Given the description of an element on the screen output the (x, y) to click on. 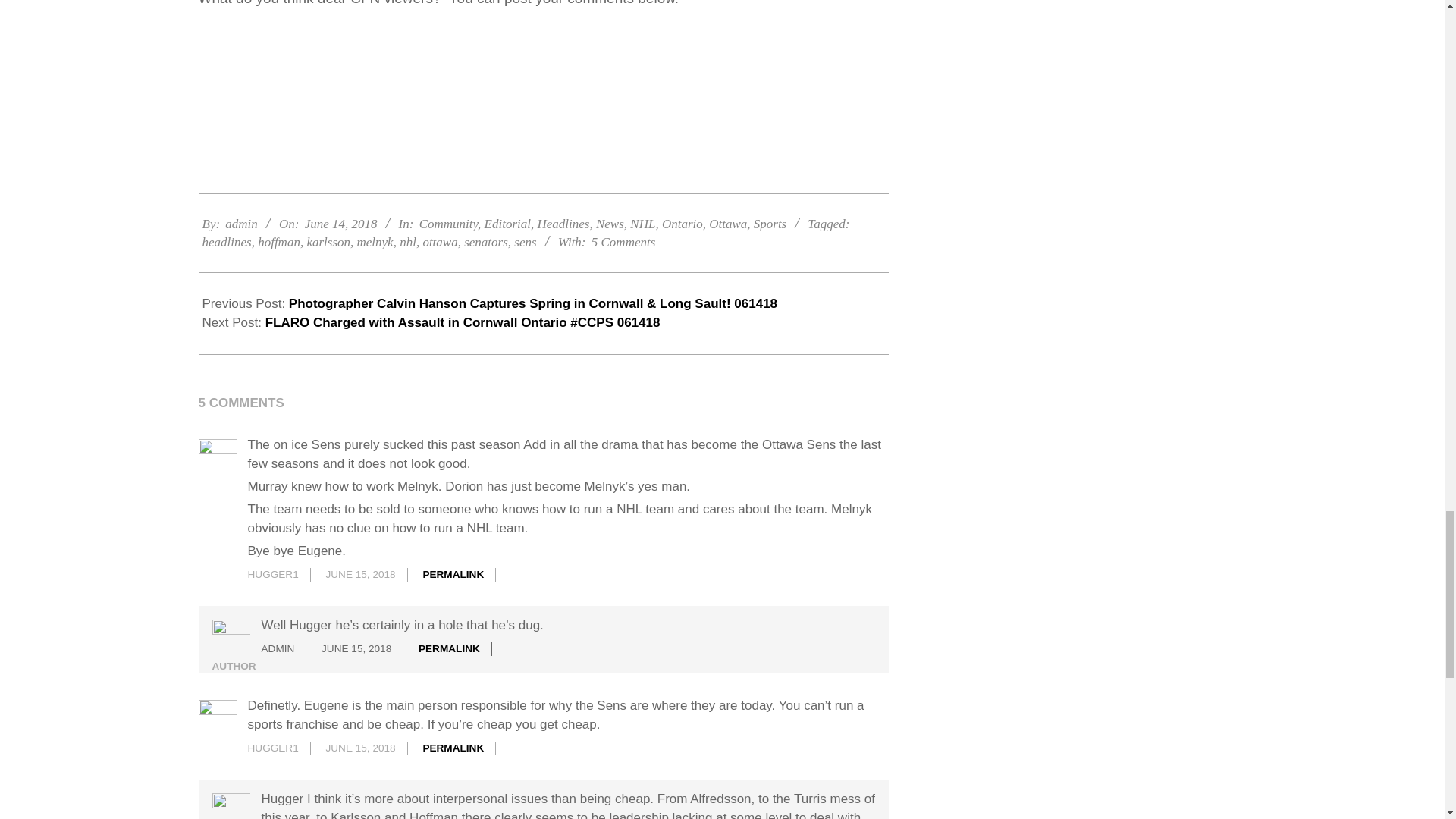
Friday, June 15, 2018, 2:49 pm (359, 747)
Thursday, June 14, 2018, 12:40 pm (340, 223)
Friday, June 15, 2018, 9:38 am (356, 648)
Posts by admin (241, 223)
Friday, June 15, 2018, 9:33 am (359, 573)
